Given the description of an element on the screen output the (x, y) to click on. 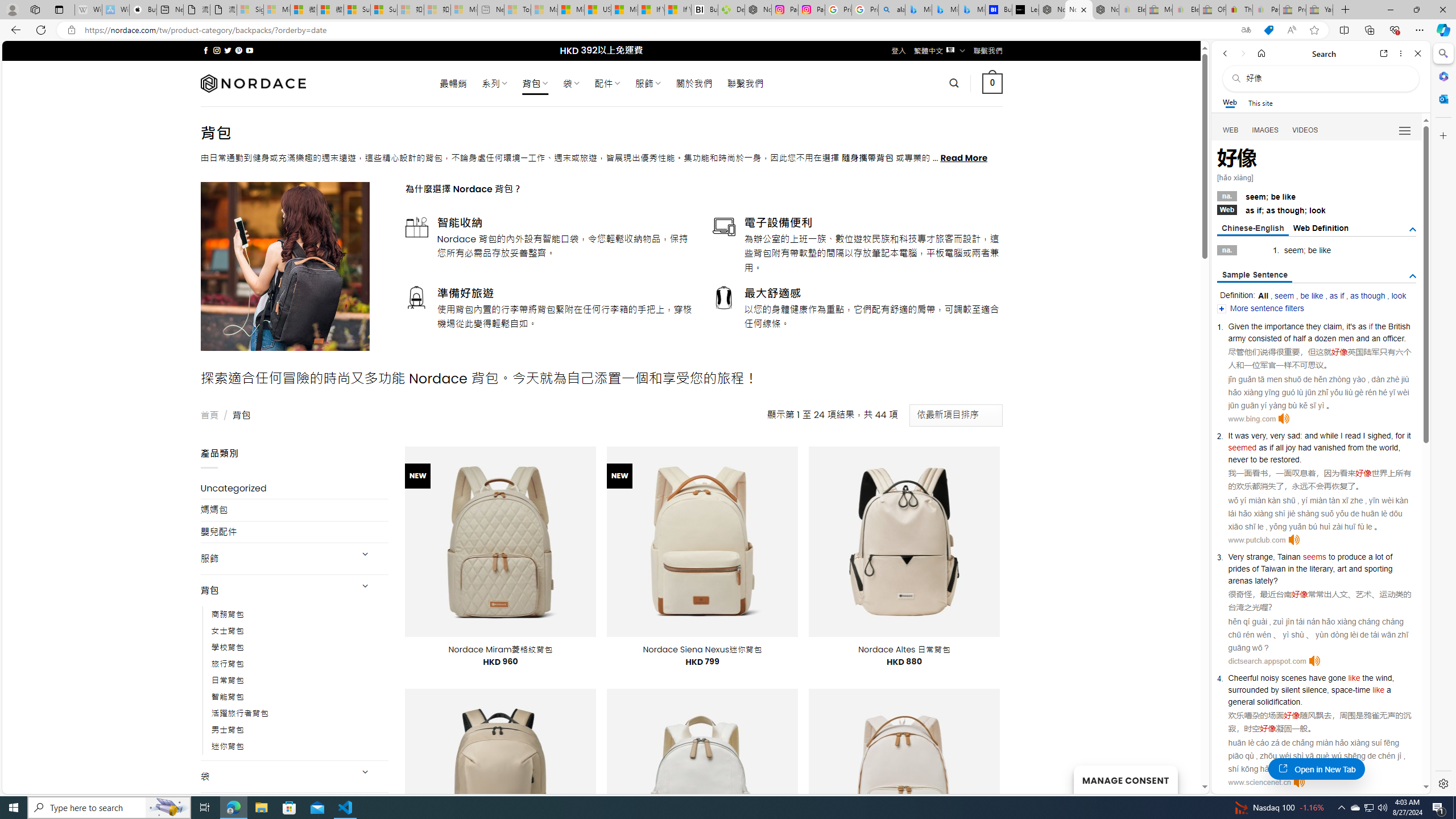
www.sciencenet.cn (1259, 782)
Marine life - MSN - Sleeping (543, 9)
and (1362, 338)
WEB (1231, 130)
dozen (1325, 338)
Chinese-English (1252, 228)
